Given the description of an element on the screen output the (x, y) to click on. 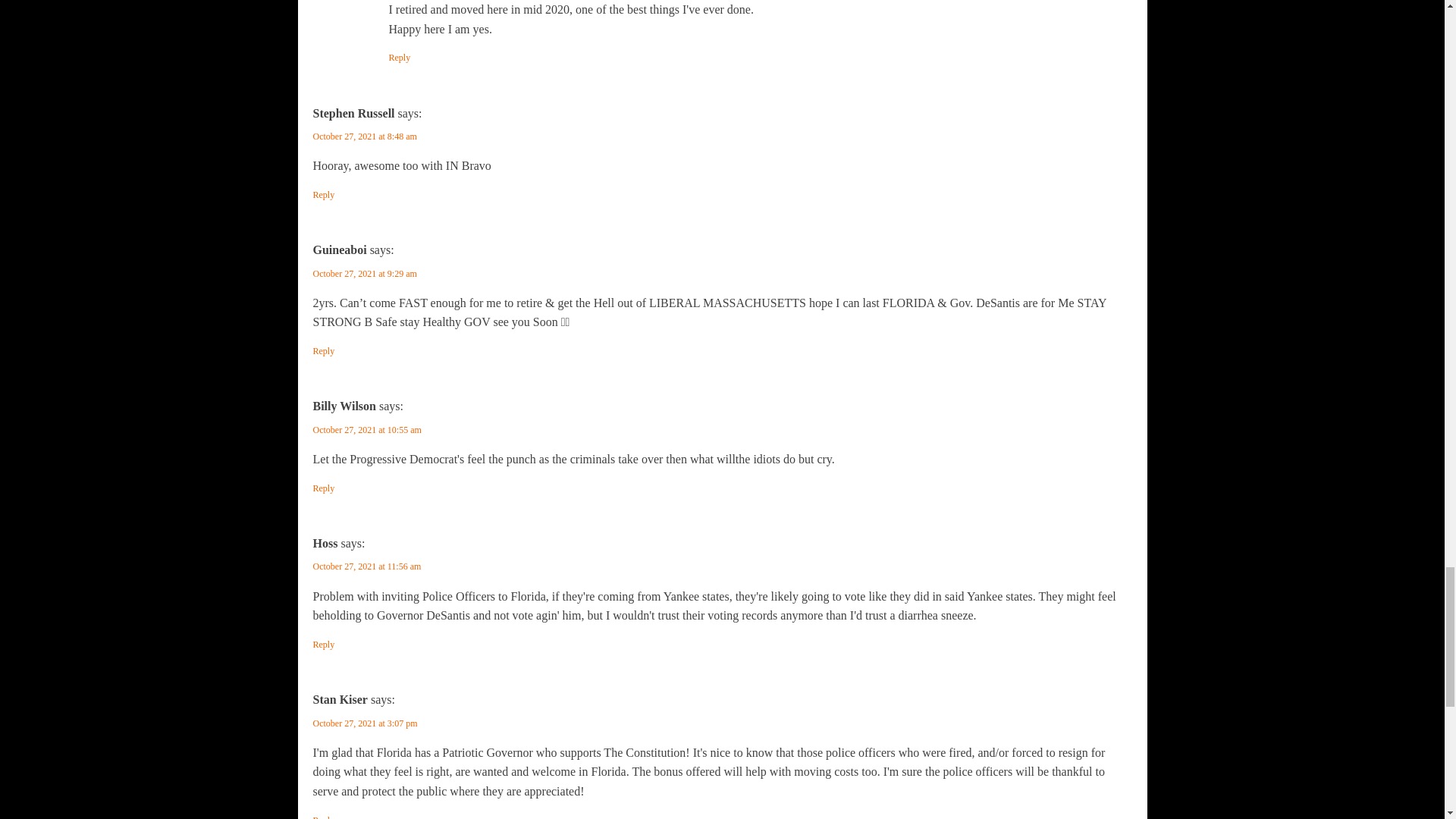
Reply (399, 57)
